Given the description of an element on the screen output the (x, y) to click on. 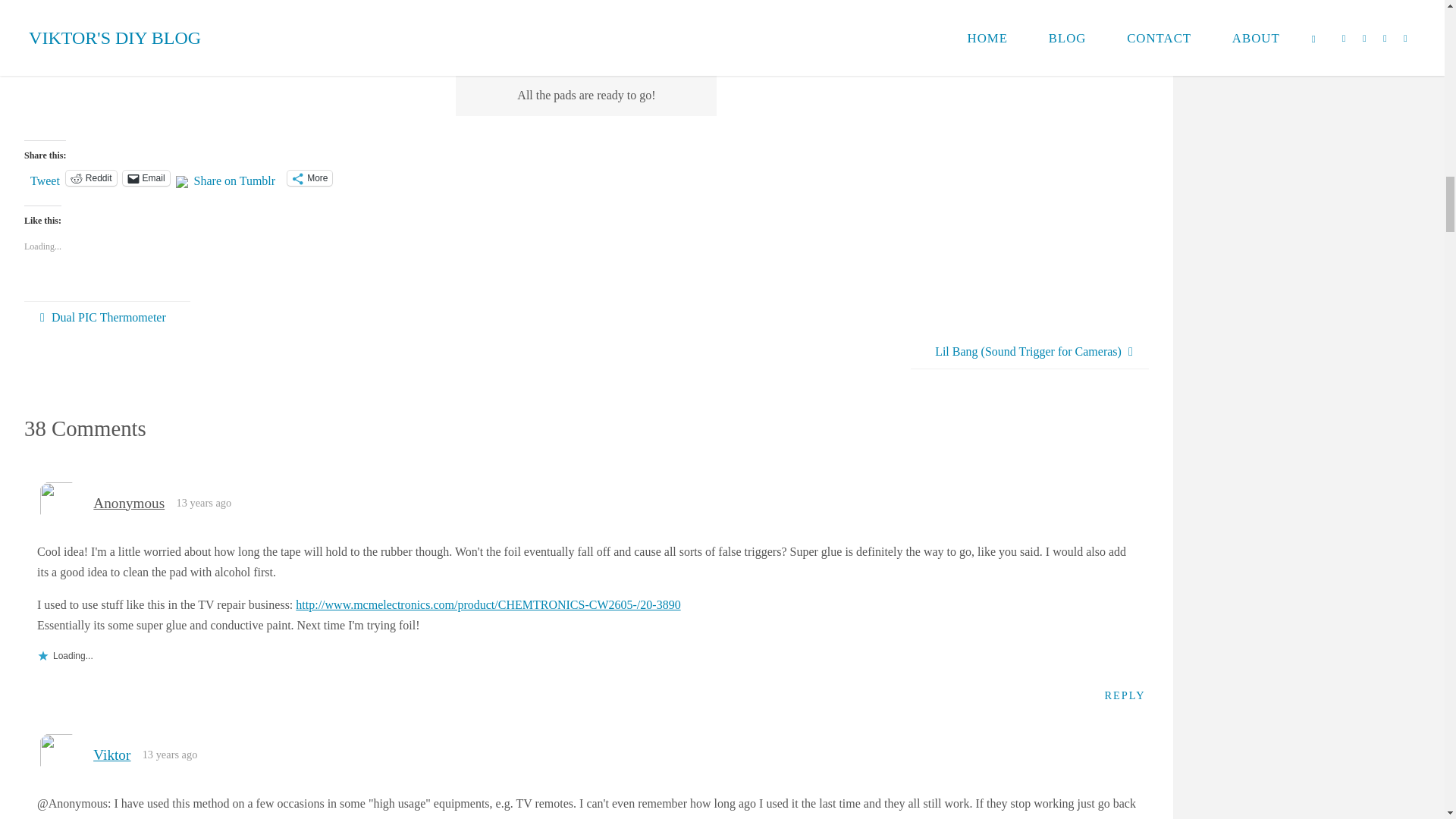
Share on Tumblr (234, 177)
Click to share on Reddit (90, 177)
Reddit (90, 177)
Tweet (44, 177)
Click to email a link to a friend (146, 177)
Email (146, 177)
Share on Tumblr (234, 177)
